Given the description of an element on the screen output the (x, y) to click on. 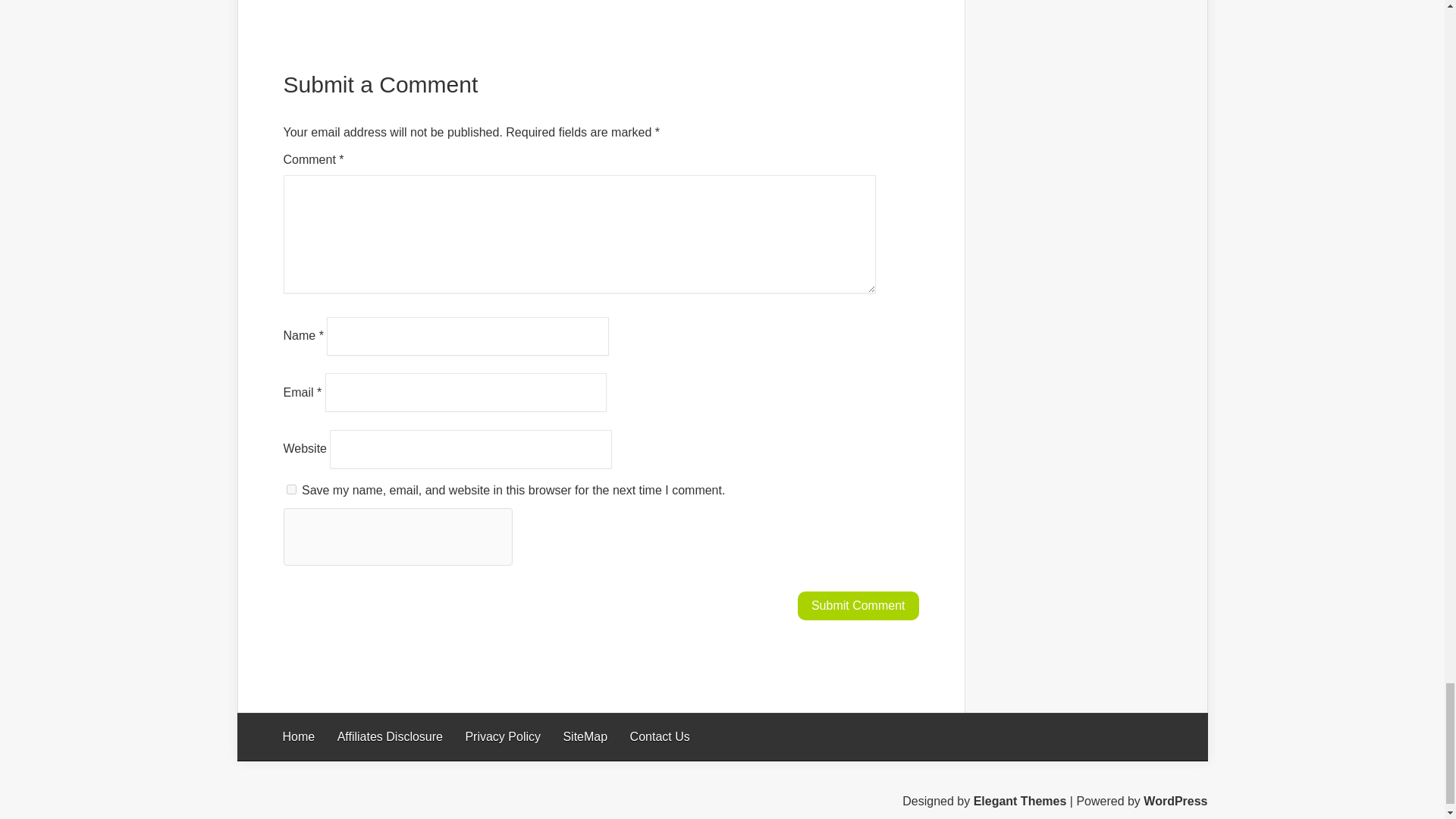
Submit Comment (857, 605)
Premium WordPress Themes (1020, 800)
yes (291, 489)
Submit Comment (857, 605)
